Given the description of an element on the screen output the (x, y) to click on. 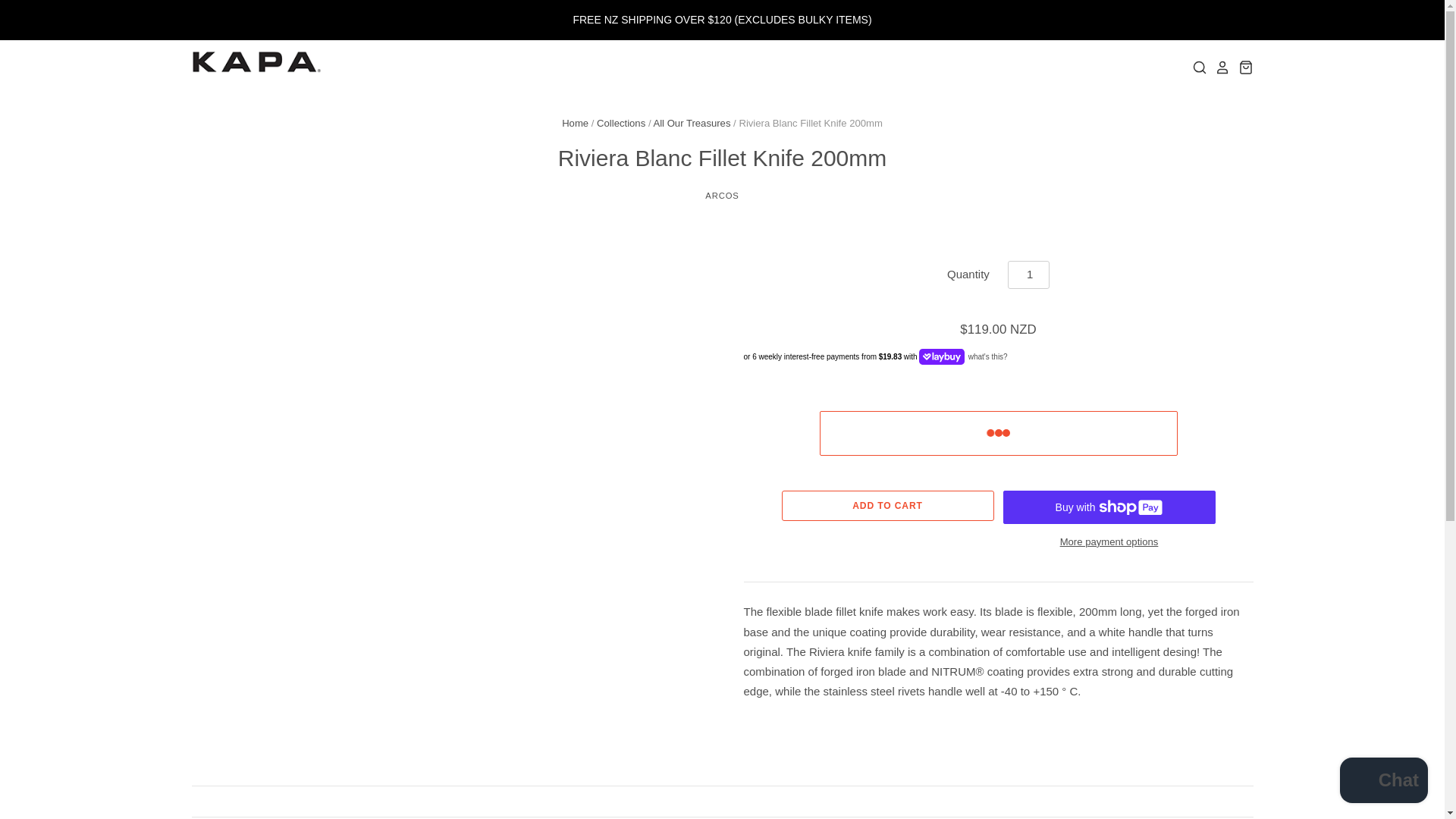
Shopify online store chat (1383, 781)
1 (1028, 275)
Add to cart (886, 505)
